Given the description of an element on the screen output the (x, y) to click on. 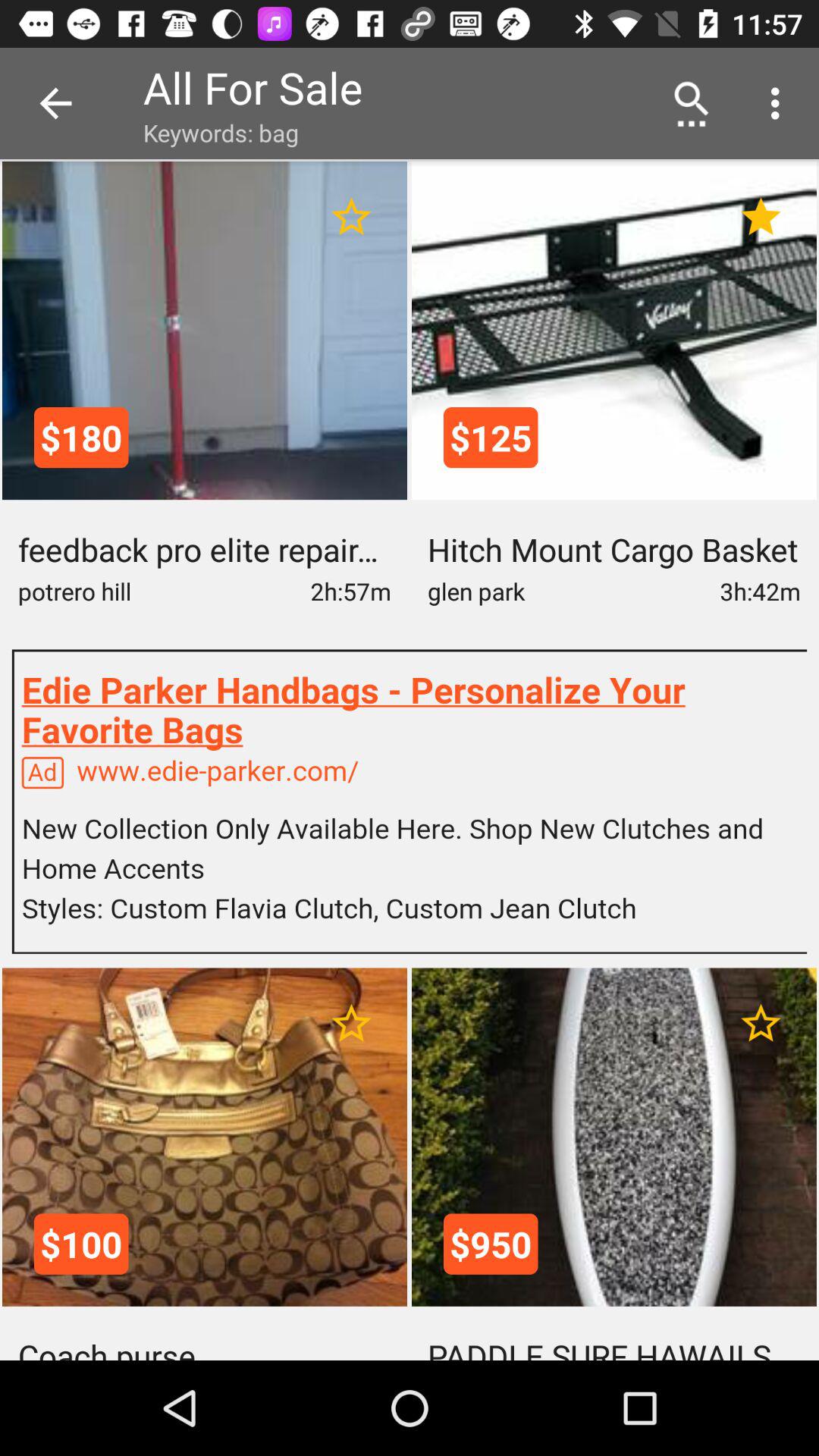
favorite (760, 217)
